Given the description of an element on the screen output the (x, y) to click on. 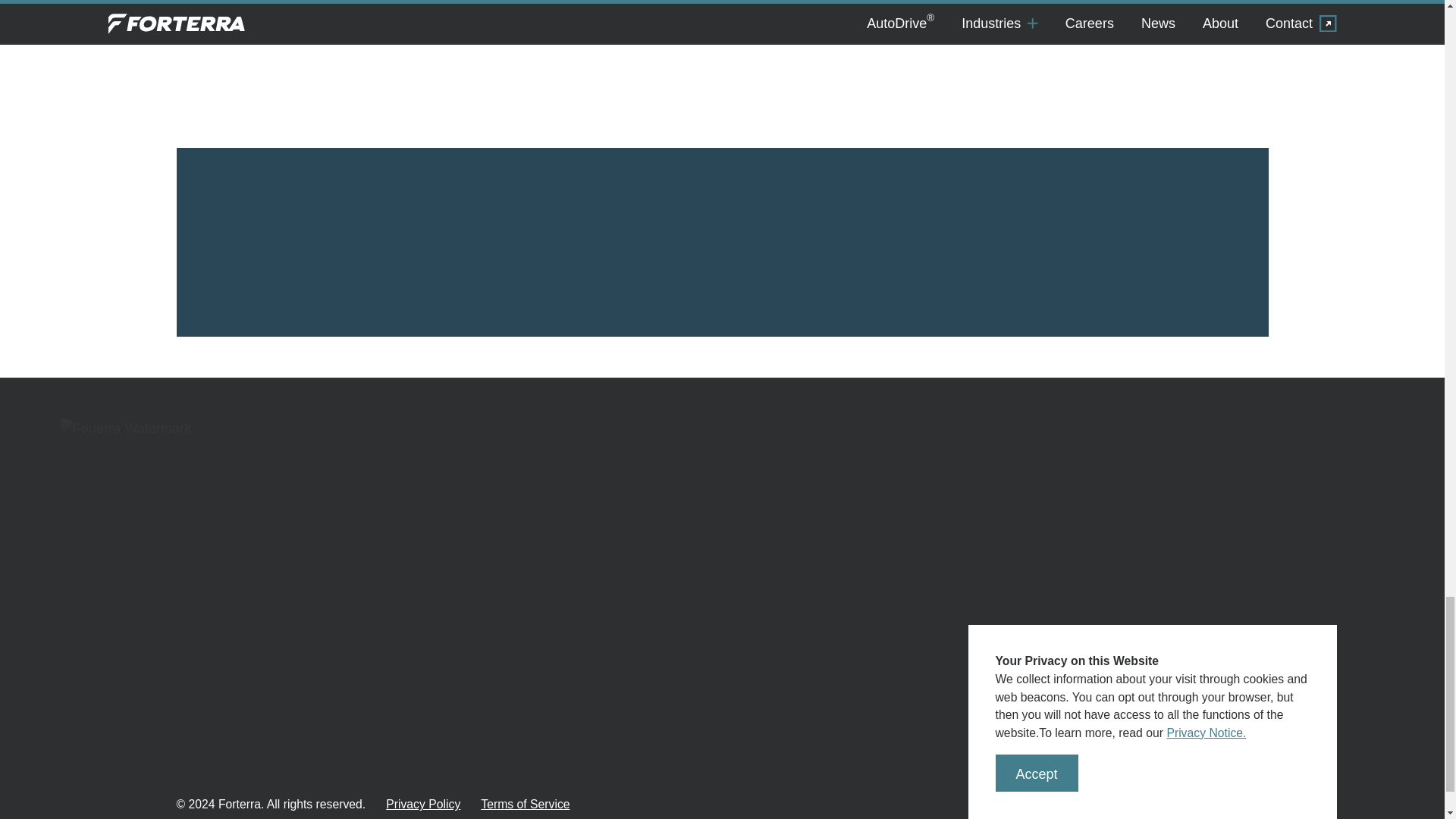
Privacy Policy (422, 804)
Terms of Service (524, 804)
